Given the description of an element on the screen output the (x, y) to click on. 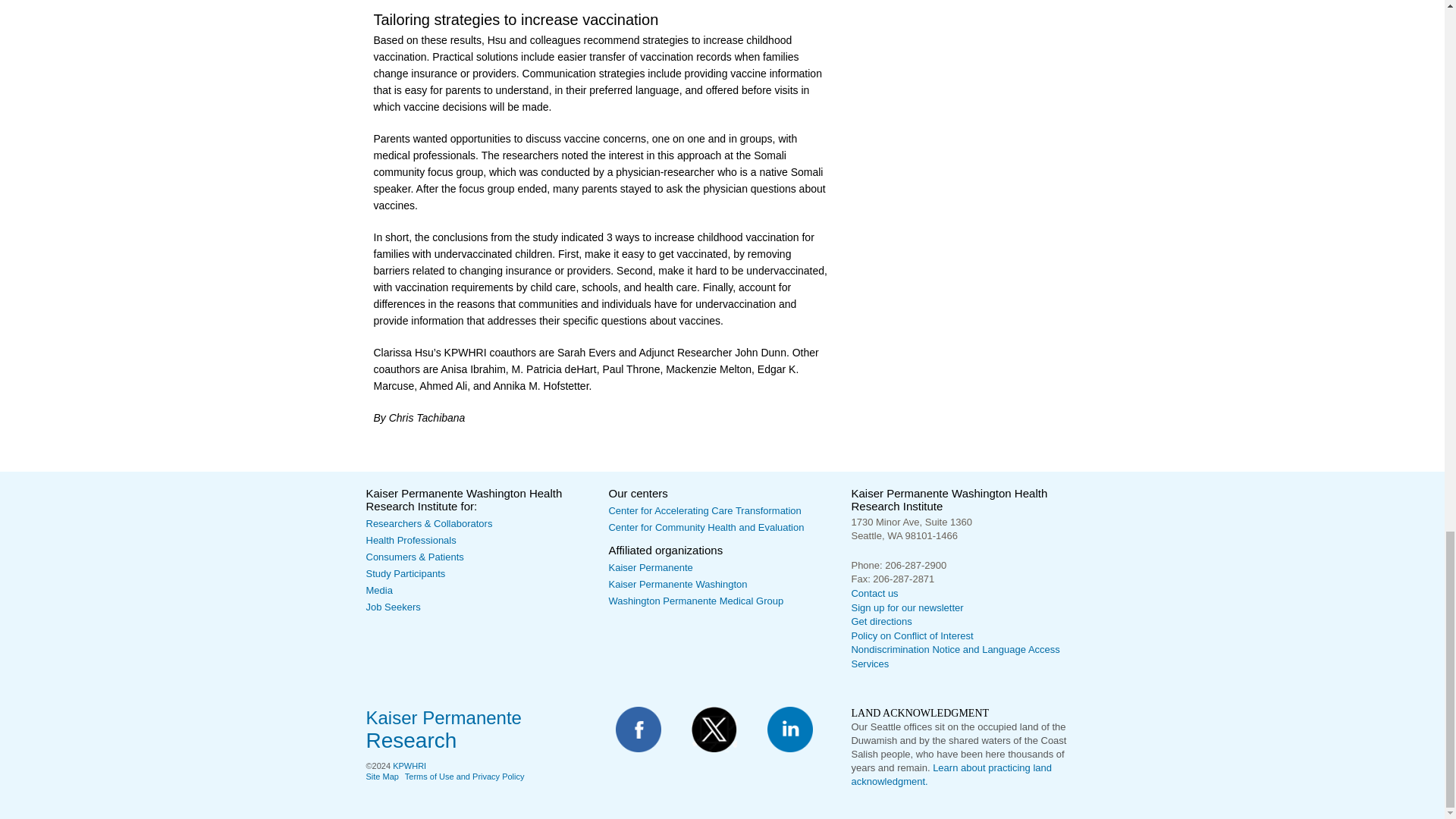
Live Healthy (414, 556)
Sign up (906, 607)
GHRI-Nondiscrimination-Notice-Language-Access-Services.pdf (954, 656)
Sitemap (381, 776)
Directions to Research Institute (880, 621)
Career Opportunities (392, 606)
For the Media (378, 590)
Terms of Use and Privacy Policy (464, 776)
Health Professionals (410, 540)
Center for Community Health and Evaluation (705, 527)
Participate in a Study (405, 573)
Contact Us (874, 593)
